Given the description of an element on the screen output the (x, y) to click on. 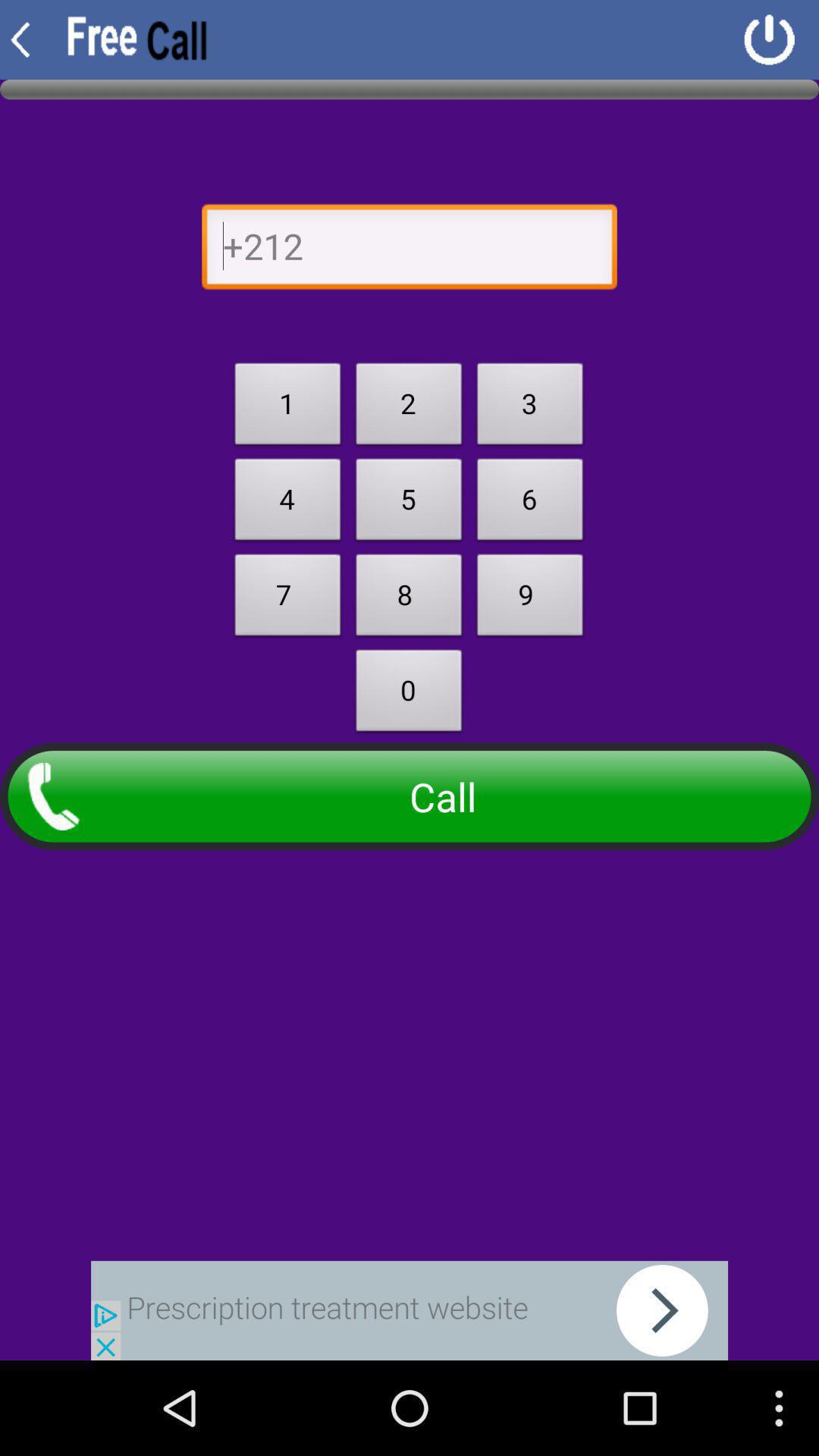
turn off (769, 39)
